Given the description of an element on the screen output the (x, y) to click on. 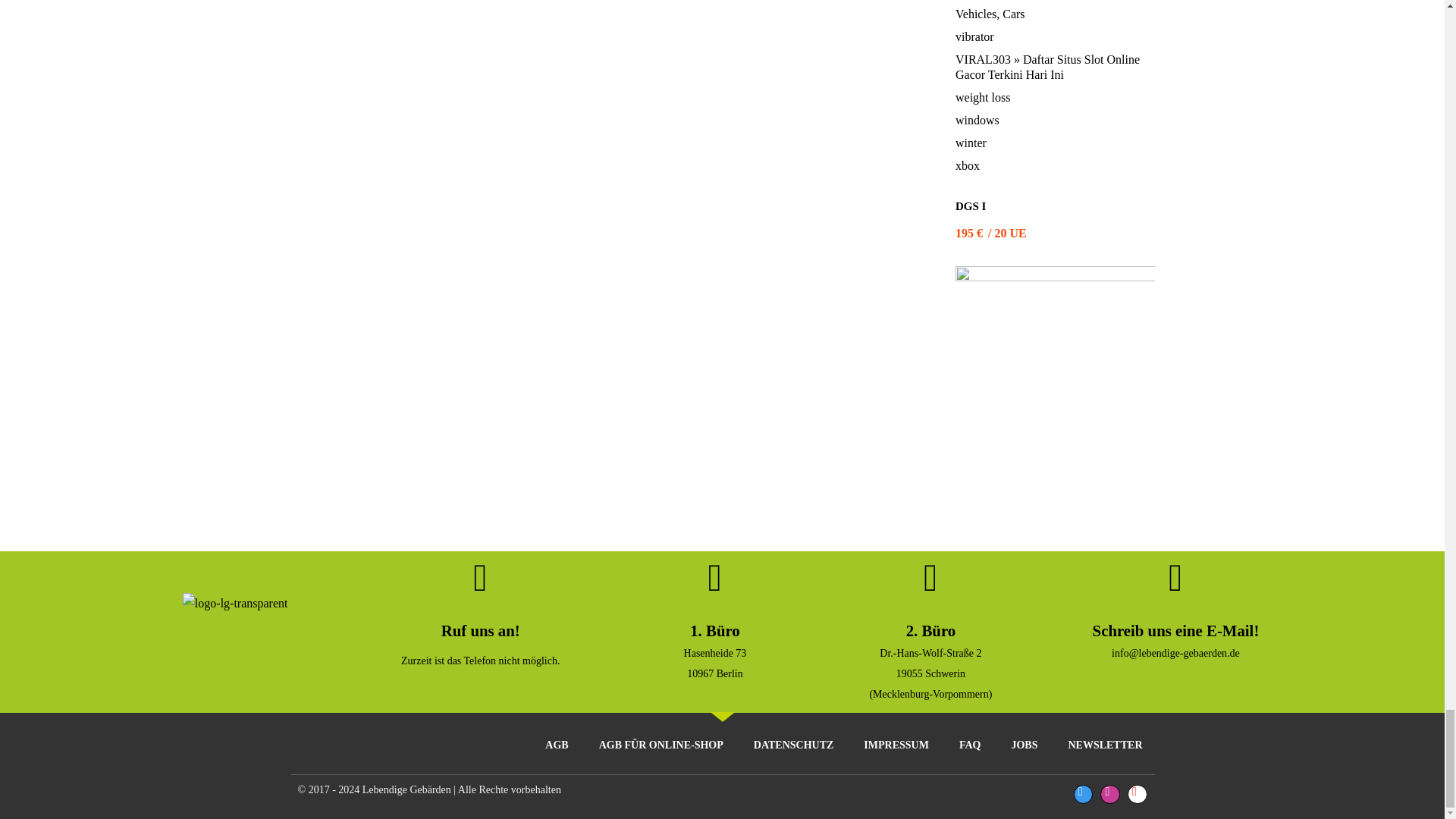
logo-lg-transparent (235, 629)
